Given the description of an element on the screen output the (x, y) to click on. 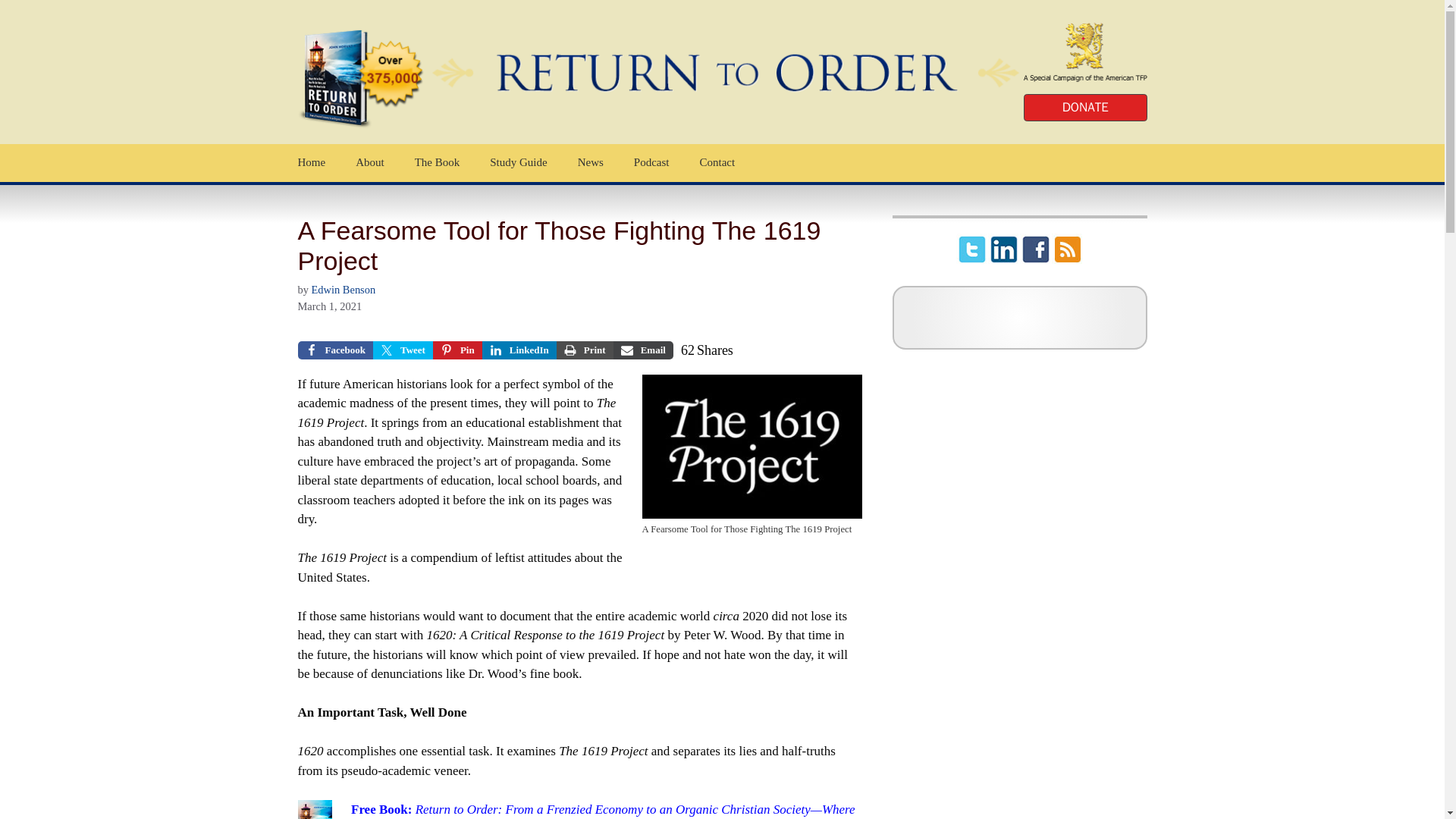
Podcast (651, 162)
Share on Facebook (334, 350)
Print this Page (584, 350)
Email (642, 350)
Study Guide (515, 162)
News (518, 162)
Share on Pinterest (590, 162)
Home (456, 350)
The Book (311, 162)
Share on LinkedIn (437, 162)
DONATE (518, 350)
Share on Twitter (1085, 107)
About (402, 350)
View all posts by Edwin Benson (369, 162)
